Given the description of an element on the screen output the (x, y) to click on. 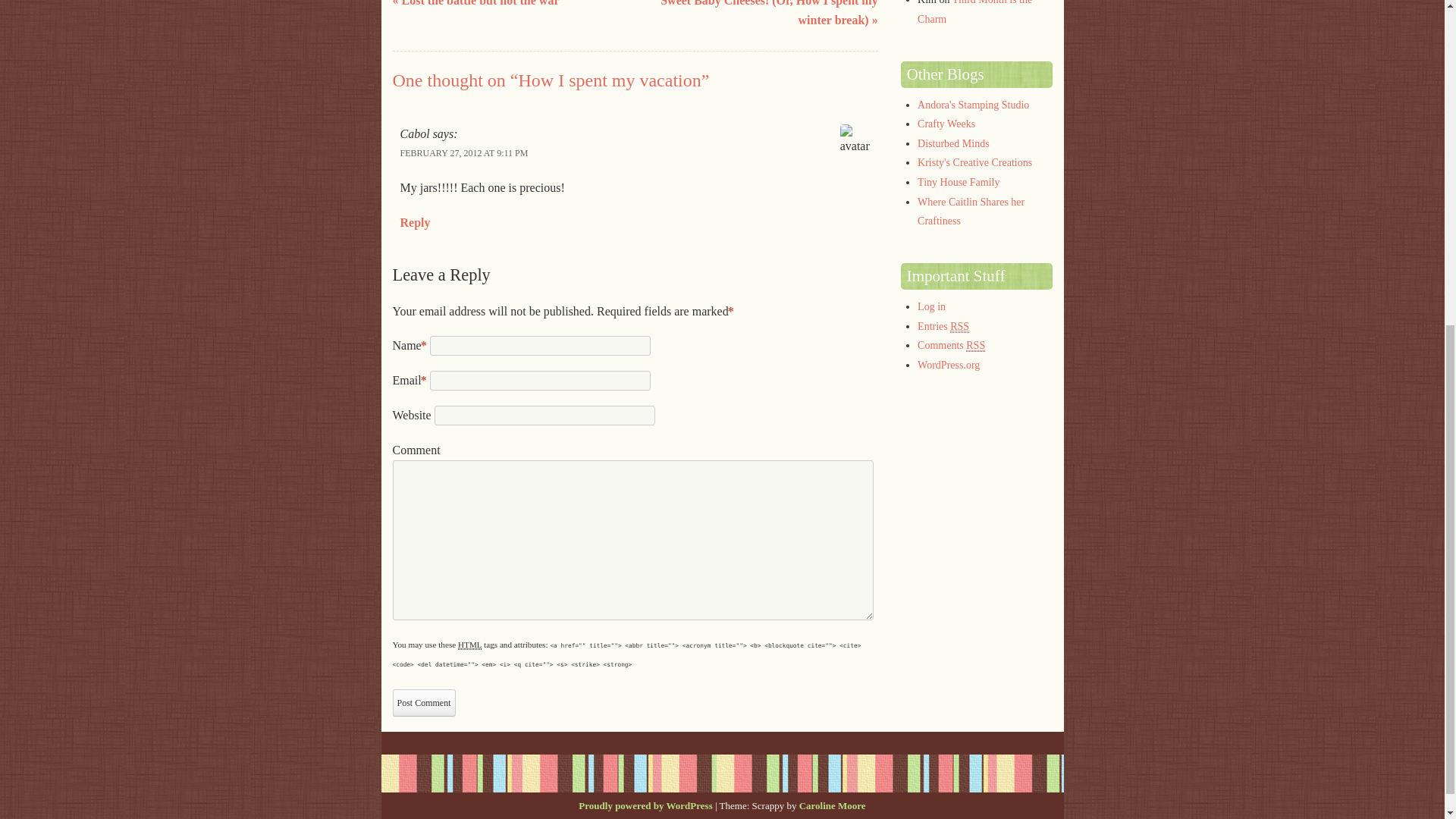
Post Comment (424, 702)
Log in (930, 306)
Tiny House Family (957, 182)
Entries RSS (943, 326)
Caroline Moore (832, 805)
The Cleveland Show (953, 143)
Reply (415, 222)
Andora's Stamping Studio (973, 104)
Kristy's Creative Creations (974, 162)
Comments RSS (951, 345)
Third Month is the Charm (974, 12)
HyperText Markup Language (469, 644)
Post Comment (424, 702)
WordPress.org (948, 365)
Proudly powered by WordPress (644, 805)
